Given the description of an element on the screen output the (x, y) to click on. 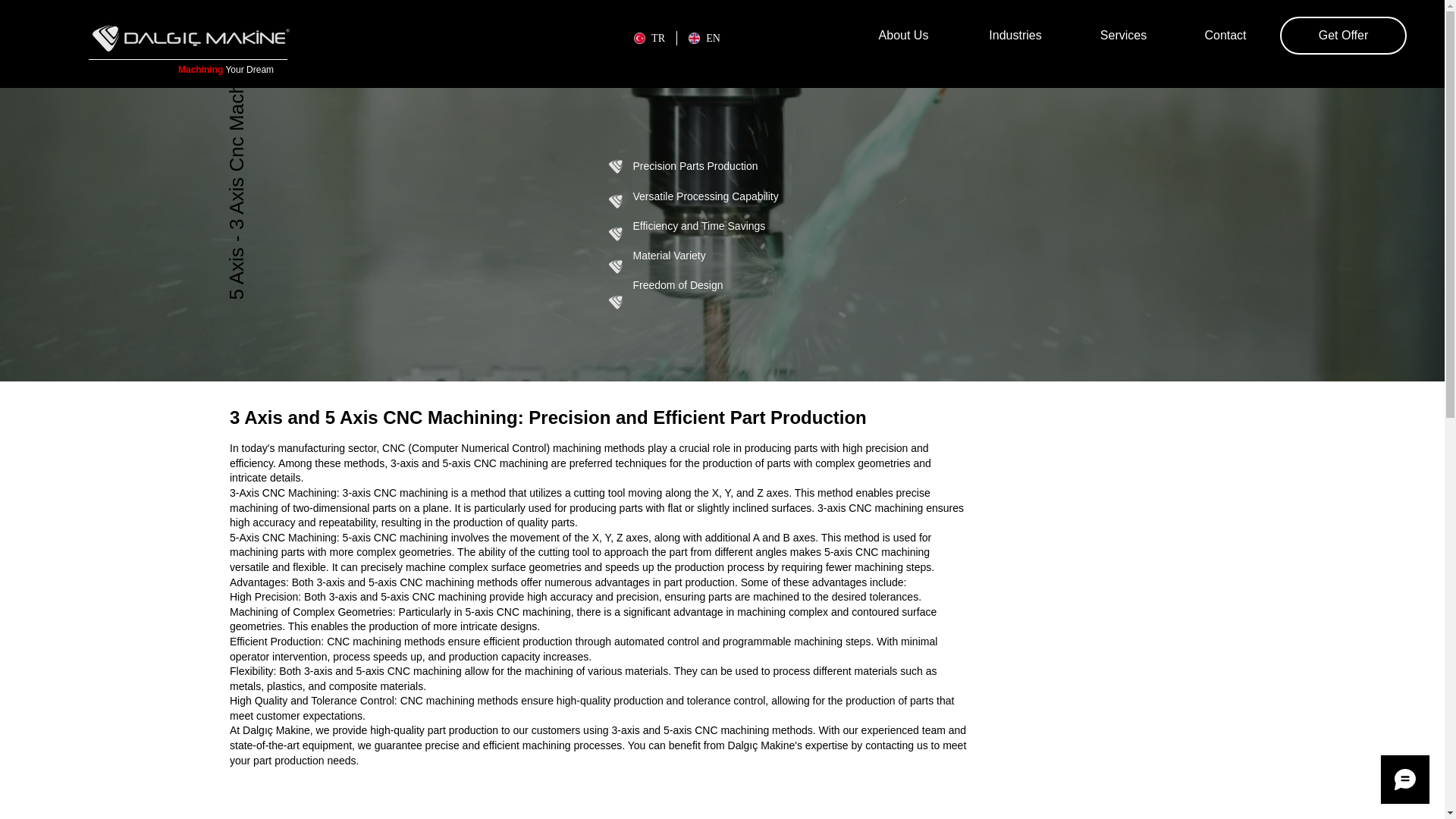
About Us (903, 35)
Industries (1014, 35)
Contact (1225, 35)
Get Offer (1342, 35)
TR (650, 38)
EN (704, 38)
